Given the description of an element on the screen output the (x, y) to click on. 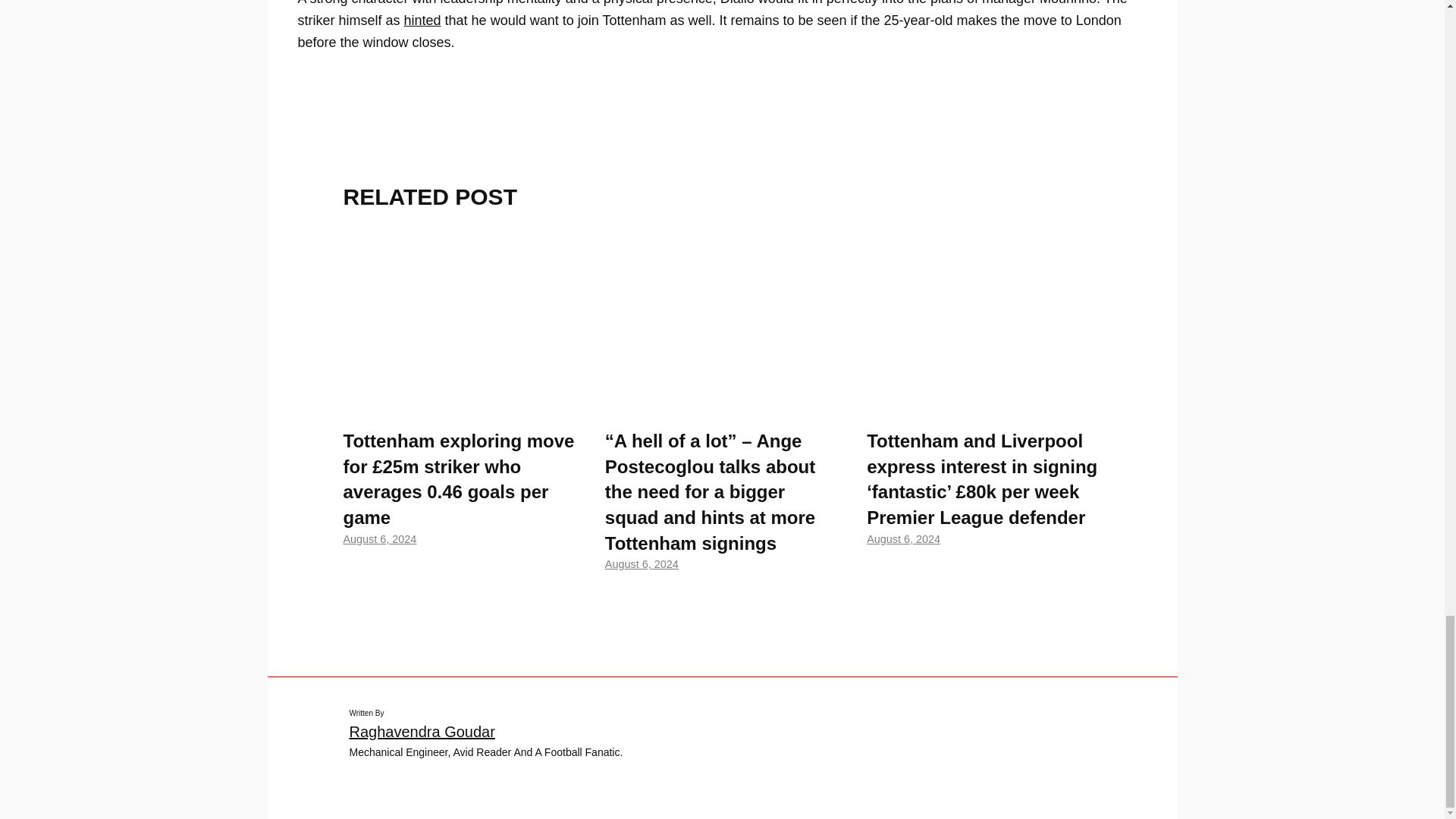
2:30 pm (379, 539)
12:30 pm (903, 539)
1:30 pm (641, 563)
